Given the description of an element on the screen output the (x, y) to click on. 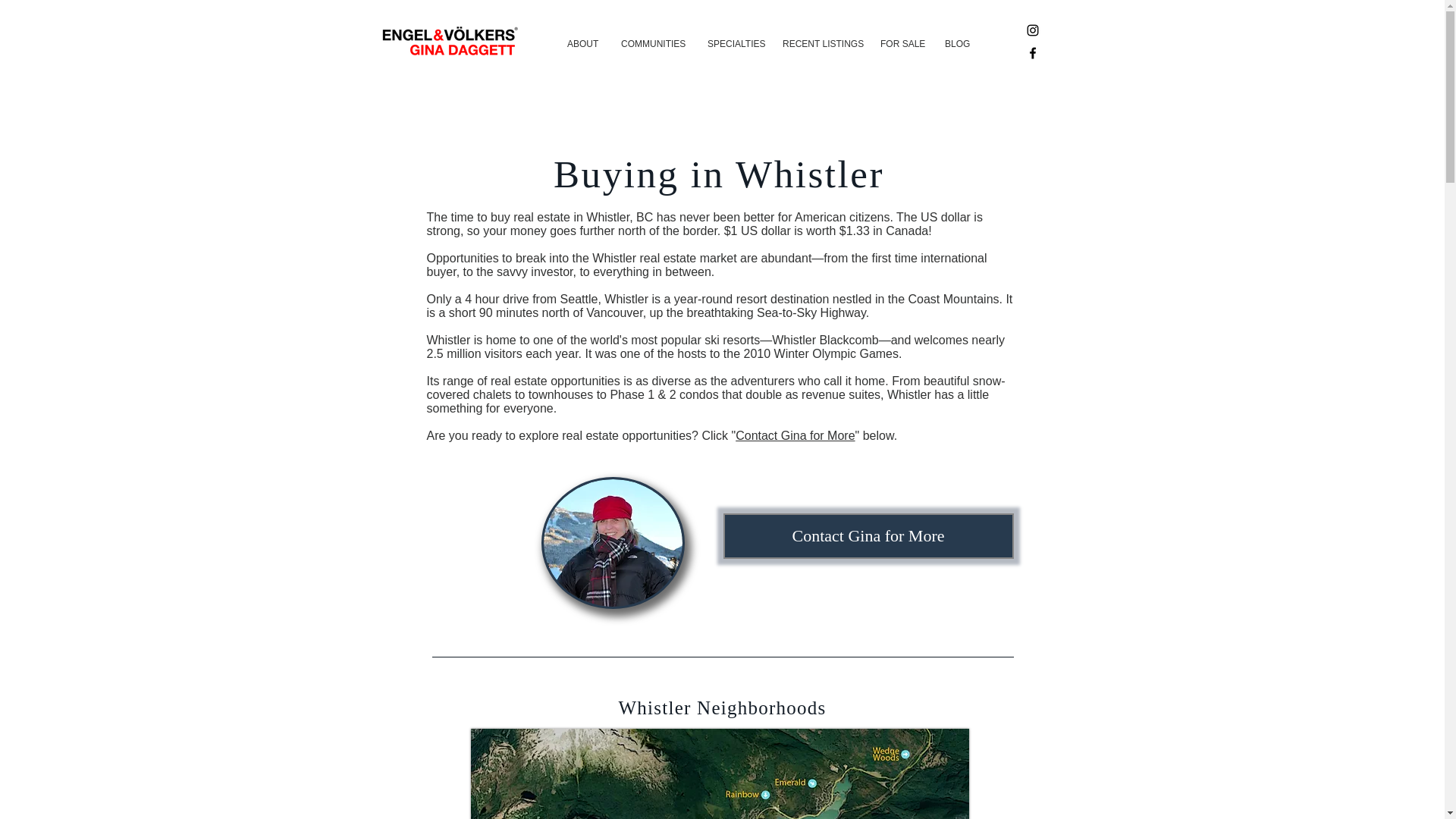
Contact Gina for More (794, 435)
COMMUNITIES (652, 44)
ABOUT (583, 44)
Contact Gina for More (868, 535)
BLOG (957, 44)
SPECIALTIES (733, 44)
FOR SALE (901, 44)
RECENT LISTINGS (820, 44)
